Given the description of an element on the screen output the (x, y) to click on. 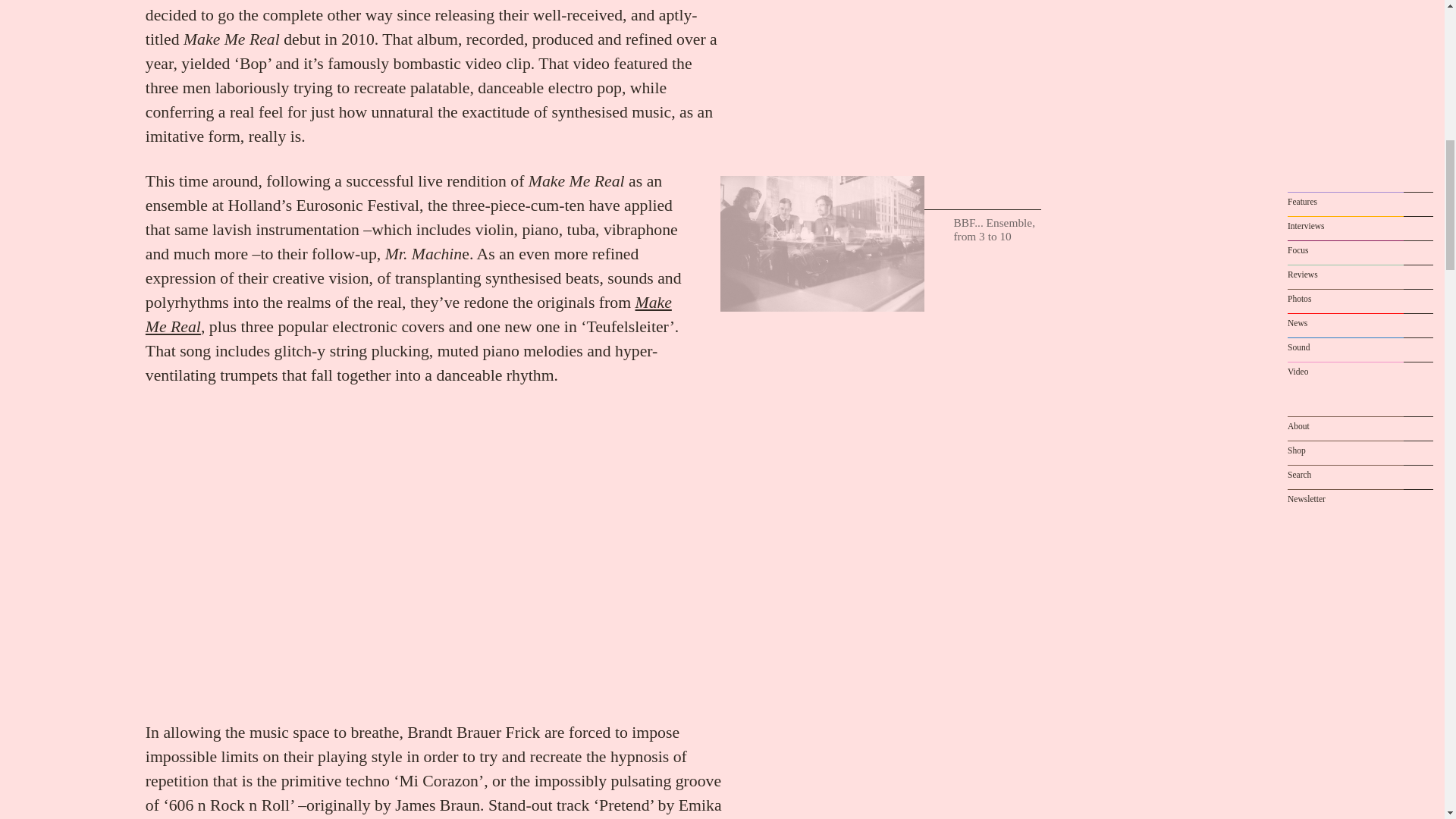
BBF... Ensemble, from 3 to 10 (822, 244)
makemereal (408, 314)
Make Me Real (408, 314)
